Given the description of an element on the screen output the (x, y) to click on. 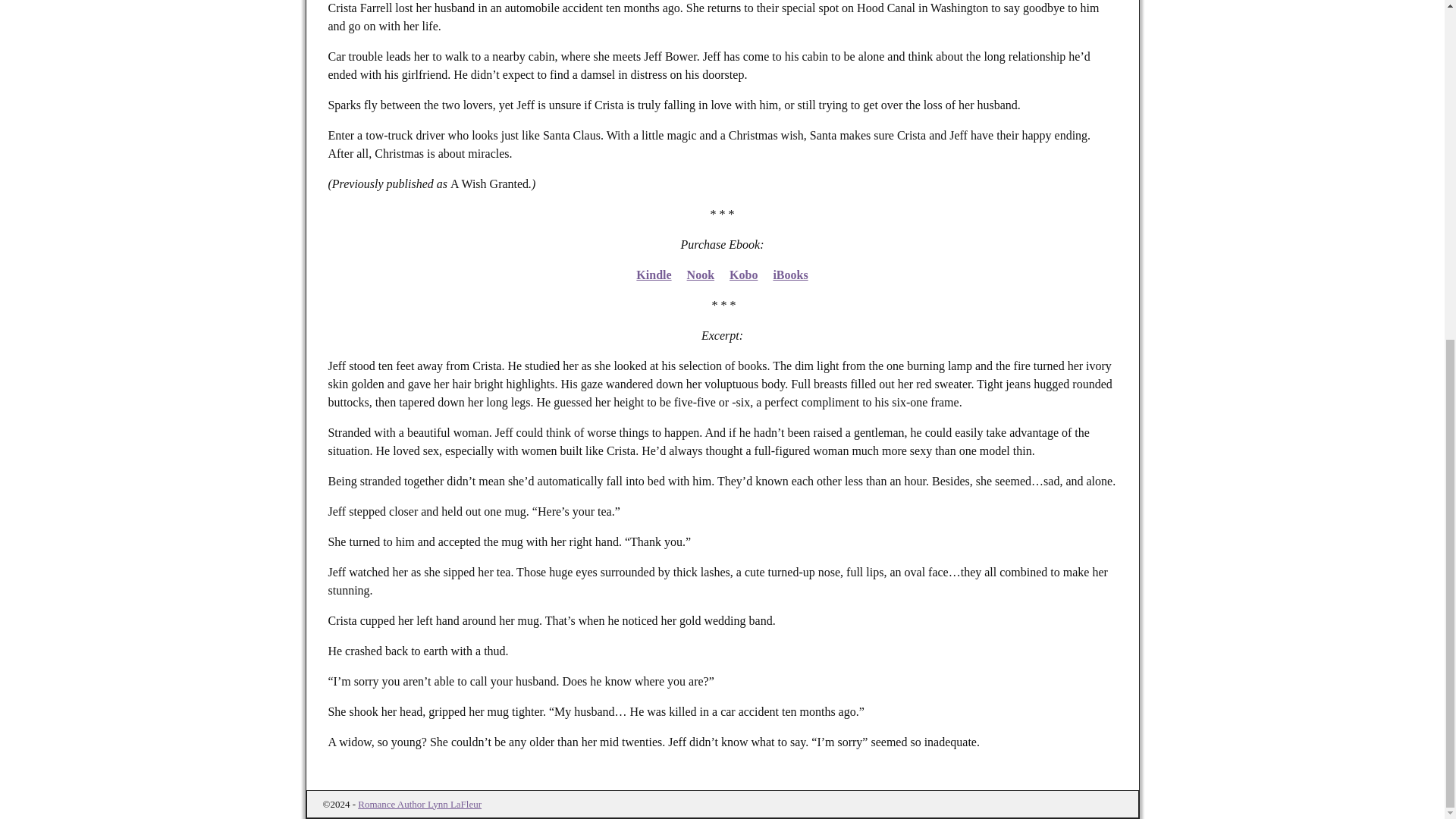
Nook (700, 274)
Kindle (653, 274)
Romance Author Lynn LaFleur (419, 803)
Kobo (743, 274)
Romance Author Lynn LaFleur (419, 803)
iBooks (790, 274)
